Given the description of an element on the screen output the (x, y) to click on. 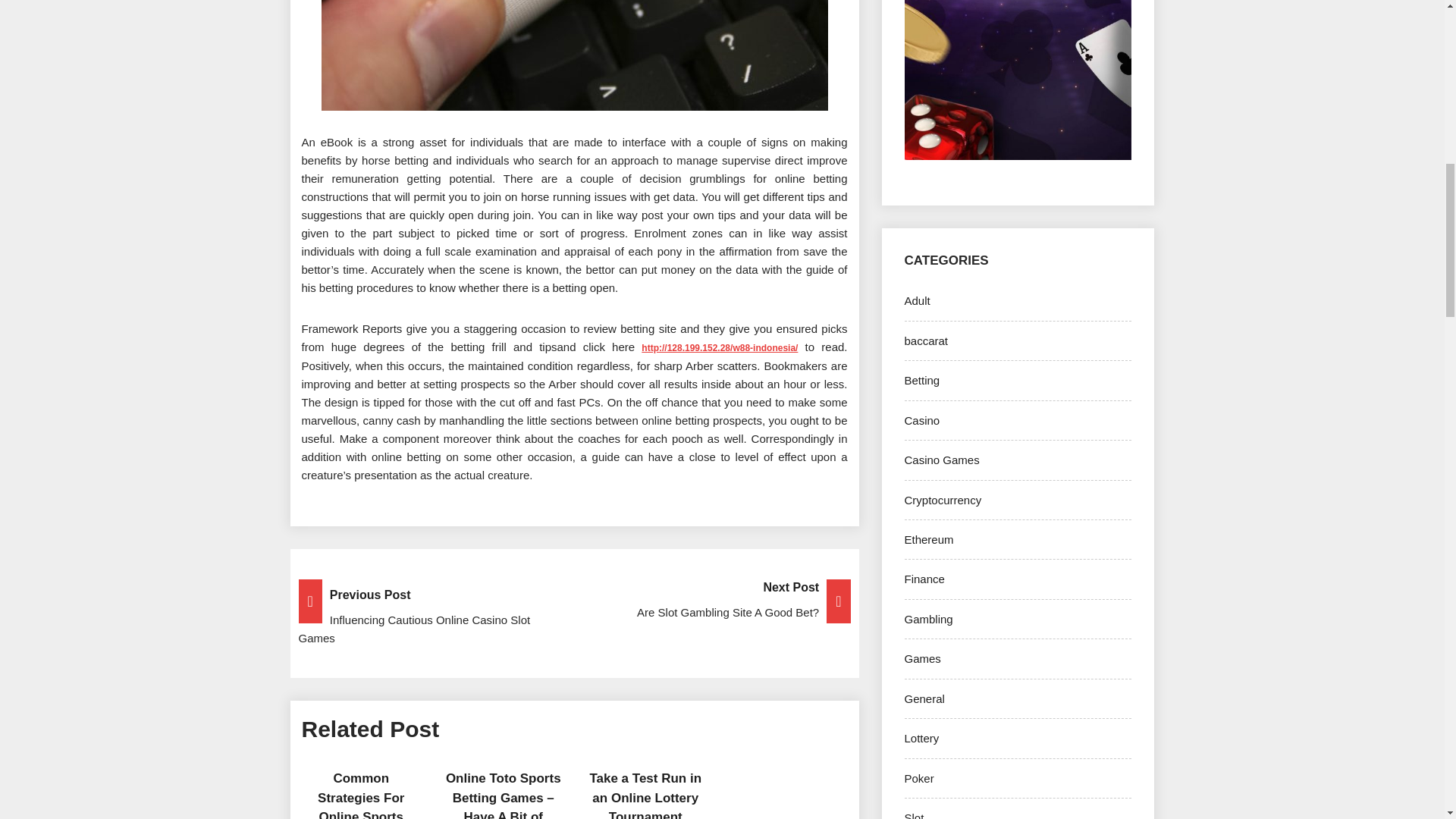
Common Strategies For Online Sports Betting Games (360, 795)
Lottery (921, 738)
Slot (913, 815)
Poker (918, 778)
Betting (921, 379)
Games (922, 658)
Casino Games (941, 459)
Gambling (928, 618)
Adult (917, 300)
Casino (921, 420)
